Given the description of an element on the screen output the (x, y) to click on. 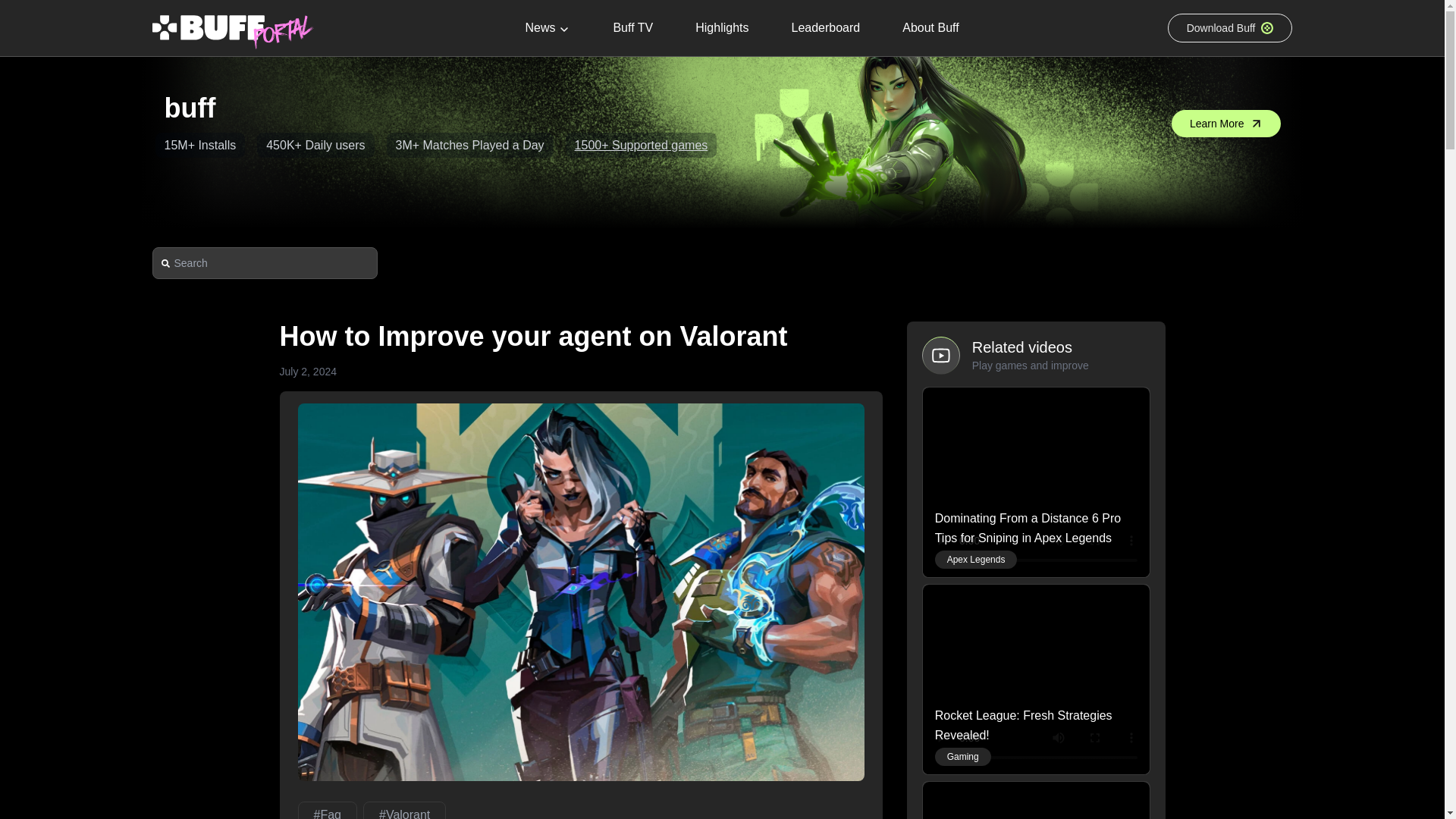
Learn More (1226, 123)
Leaderboard (825, 28)
News (547, 28)
Buff TV (633, 28)
About Buff (930, 28)
Highlights (721, 28)
Download Buff (1229, 27)
